Given the description of an element on the screen output the (x, y) to click on. 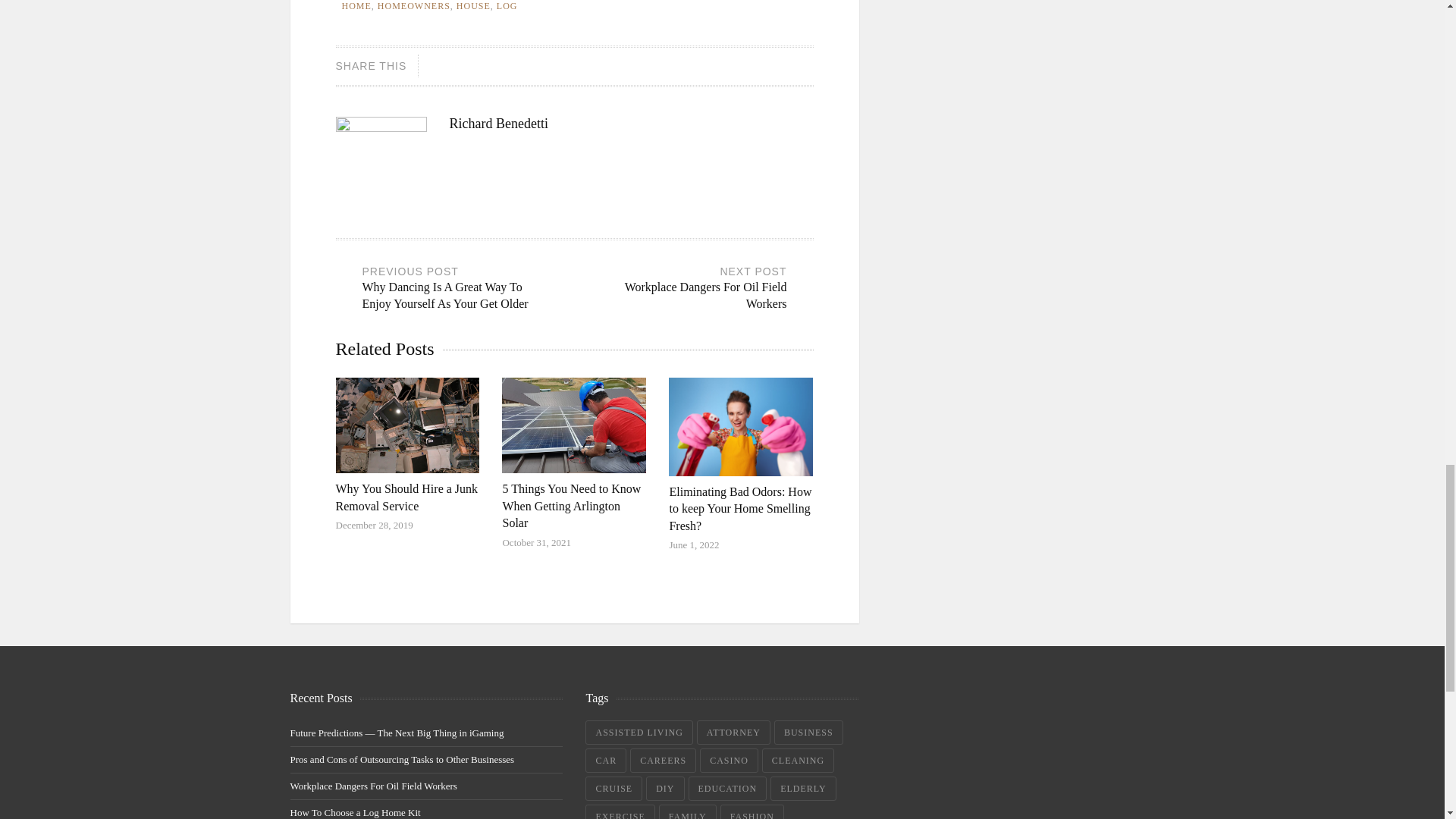
LOG (507, 5)
HOME (355, 5)
5 Things You Need to Know When Getting Arlington Solar (698, 289)
Why You Should Hire a Junk Removal Service (571, 505)
HOMEOWNERS (405, 496)
HOUSE (413, 5)
